Given the description of an element on the screen output the (x, y) to click on. 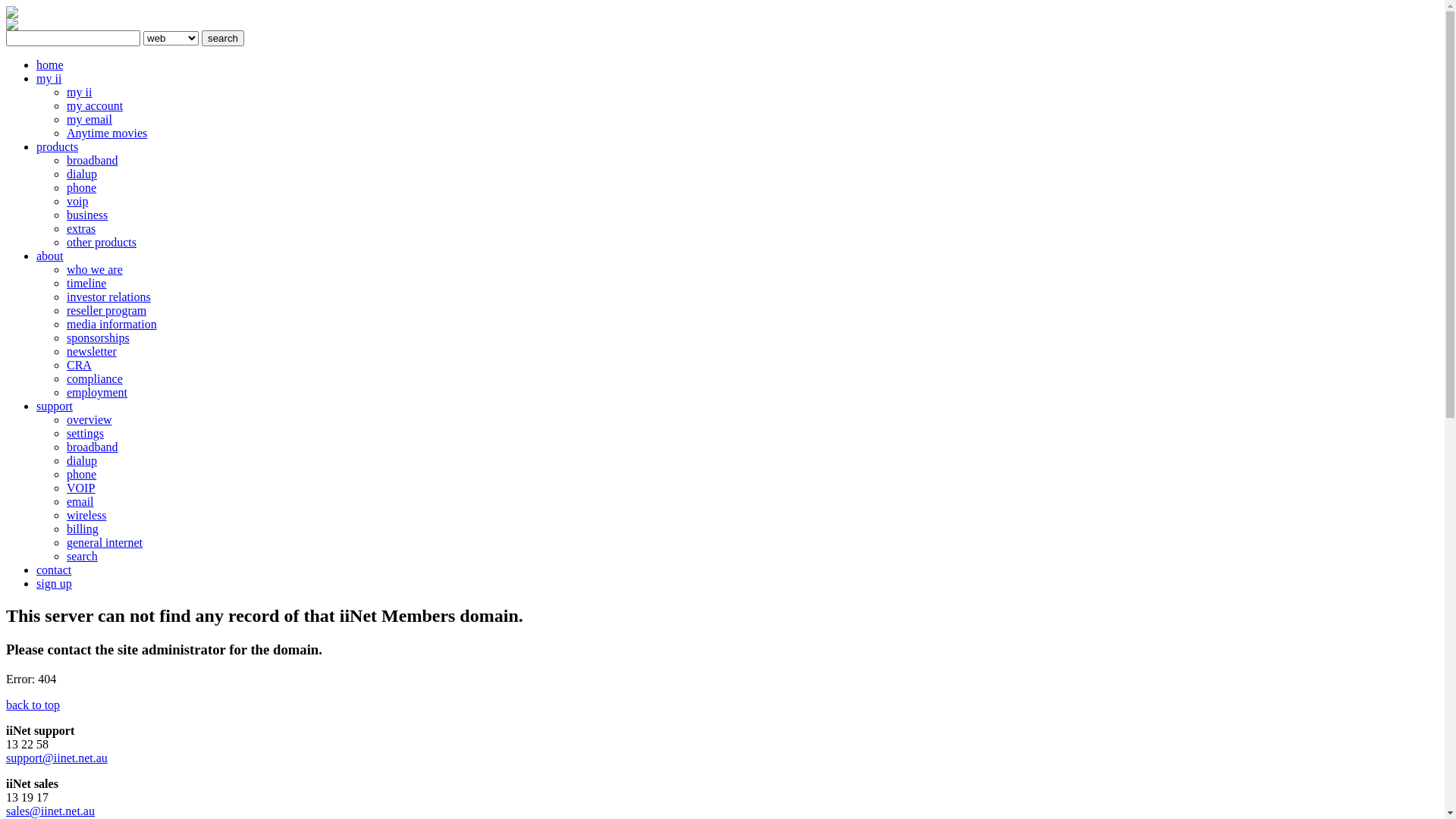
dialup Element type: text (81, 173)
my ii Element type: text (48, 78)
general internet Element type: text (104, 542)
my account Element type: text (94, 105)
phone Element type: text (81, 473)
home Element type: text (49, 64)
broadband Element type: text (92, 446)
compliance Element type: text (94, 378)
billing Element type: text (82, 528)
reseller program Element type: text (106, 310)
media information Element type: text (111, 323)
search Element type: text (81, 555)
search Element type: text (222, 38)
phone Element type: text (81, 187)
business Element type: text (86, 214)
other products Element type: text (101, 241)
wireless Element type: text (86, 514)
who we are Element type: text (94, 269)
newsletter Element type: text (91, 351)
voip Element type: text (76, 200)
CRA Element type: text (78, 364)
investor relations Element type: text (108, 296)
my ii Element type: text (78, 91)
support@iinet.net.au Element type: text (56, 757)
contact Element type: text (53, 569)
employment Element type: text (96, 391)
VOIP Element type: text (80, 487)
support Element type: text (54, 405)
dialup Element type: text (81, 460)
about Element type: text (49, 255)
sign up Element type: text (54, 583)
settings Element type: text (84, 432)
extras Element type: text (80, 228)
email Element type: text (80, 501)
timeline Element type: text (86, 282)
overview Element type: text (89, 419)
broadband Element type: text (92, 159)
Anytime movies Element type: text (106, 132)
sponsorships Element type: text (97, 337)
my email Element type: text (89, 118)
sales@iinet.net.au Element type: text (50, 810)
back to top Element type: text (32, 704)
products Element type: text (57, 146)
